Given the description of an element on the screen output the (x, y) to click on. 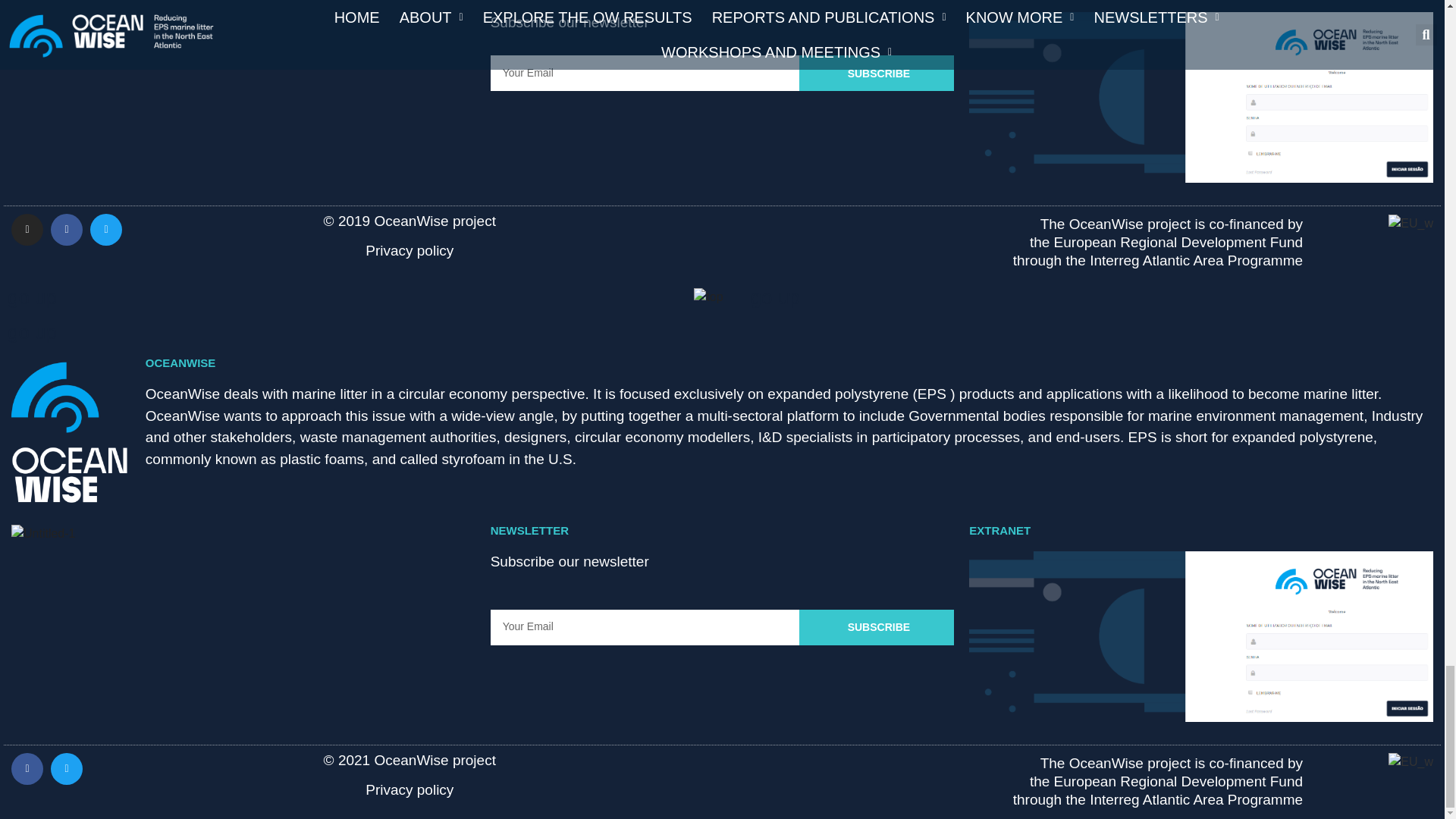
top (708, 297)
Untitled-1 (43, 2)
Untitled-1 (43, 533)
